Given the description of an element on the screen output the (x, y) to click on. 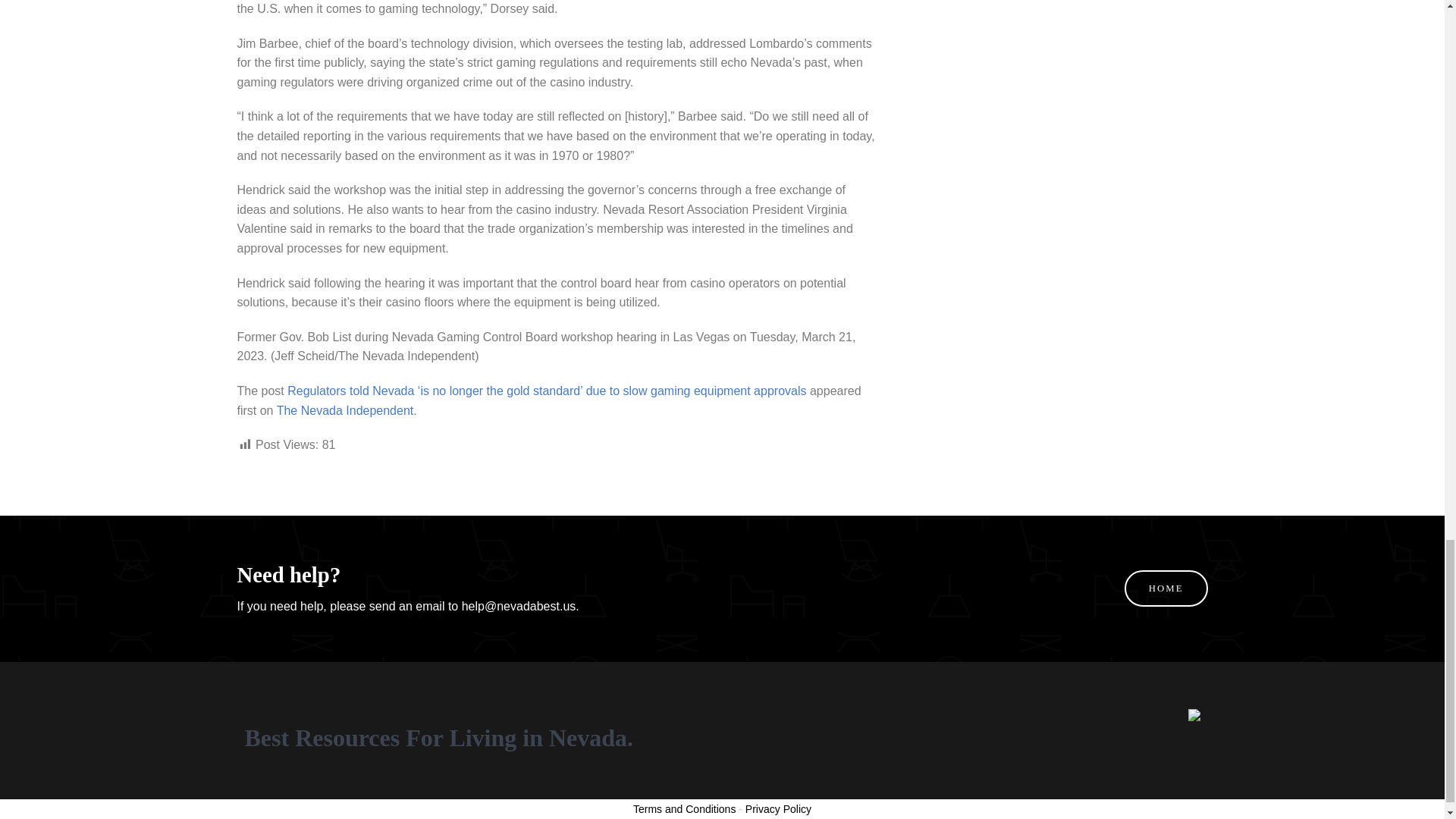
The Nevada Independent (344, 410)
